Given the description of an element on the screen output the (x, y) to click on. 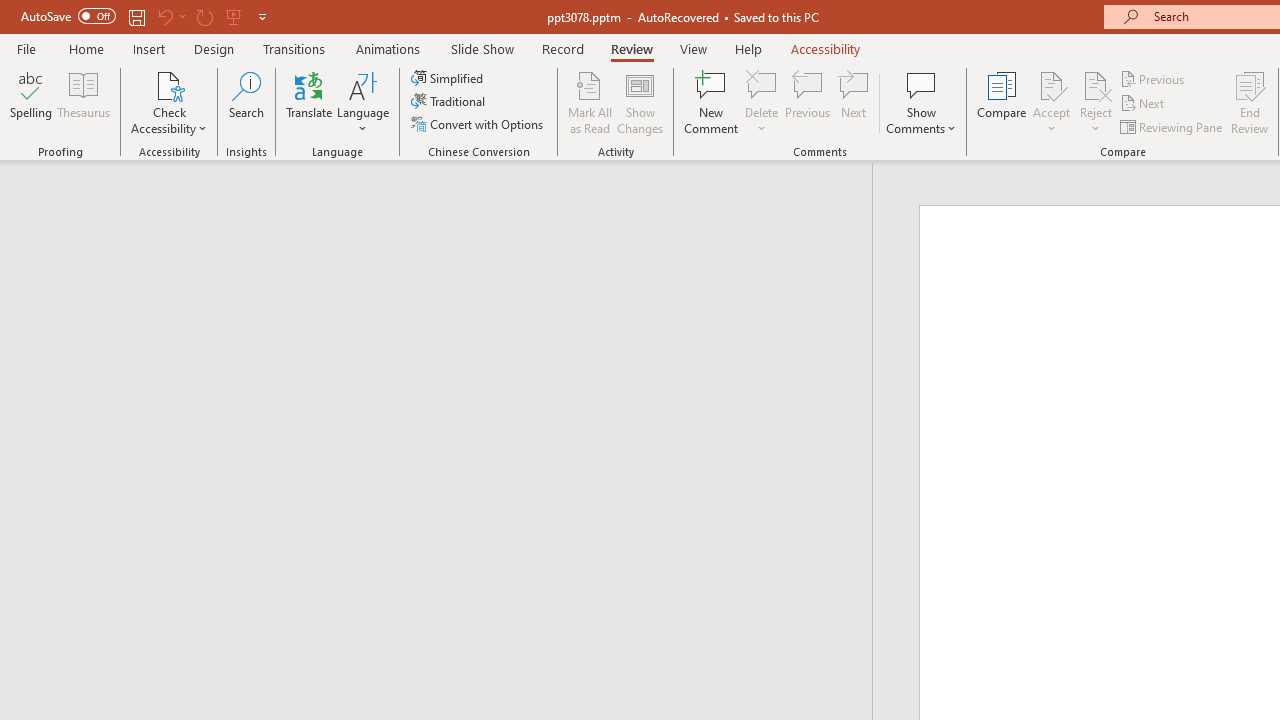
Compare (1002, 102)
Reviewing Pane (1172, 126)
Translate (309, 102)
End Review (1249, 102)
